Given the description of an element on the screen output the (x, y) to click on. 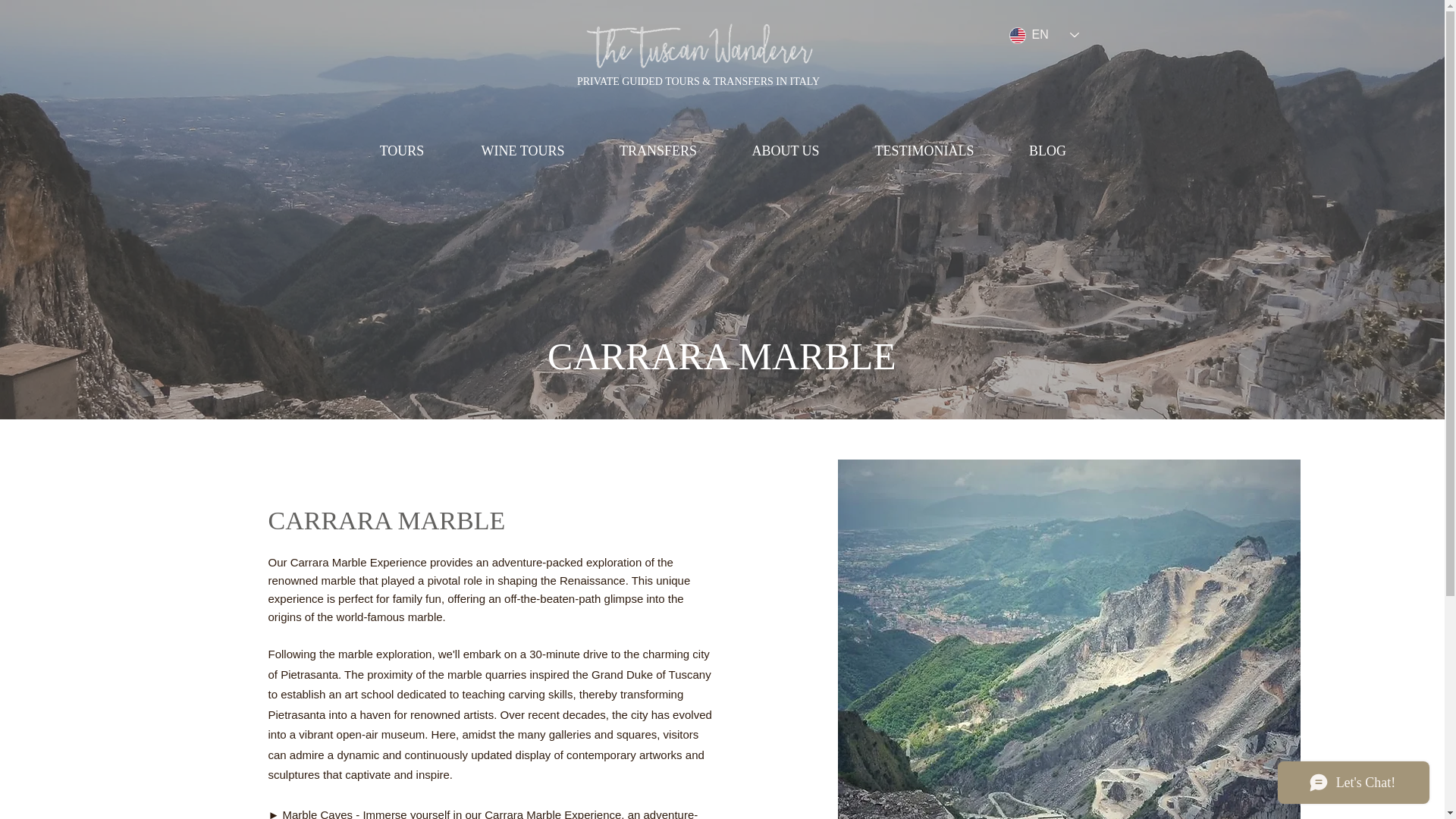
TESTIMONIALS (924, 150)
TOURS (401, 150)
WINE TOURS (522, 150)
BLOG (1047, 150)
ABOUT US (785, 150)
TRANSFERS (657, 150)
